Given the description of an element on the screen output the (x, y) to click on. 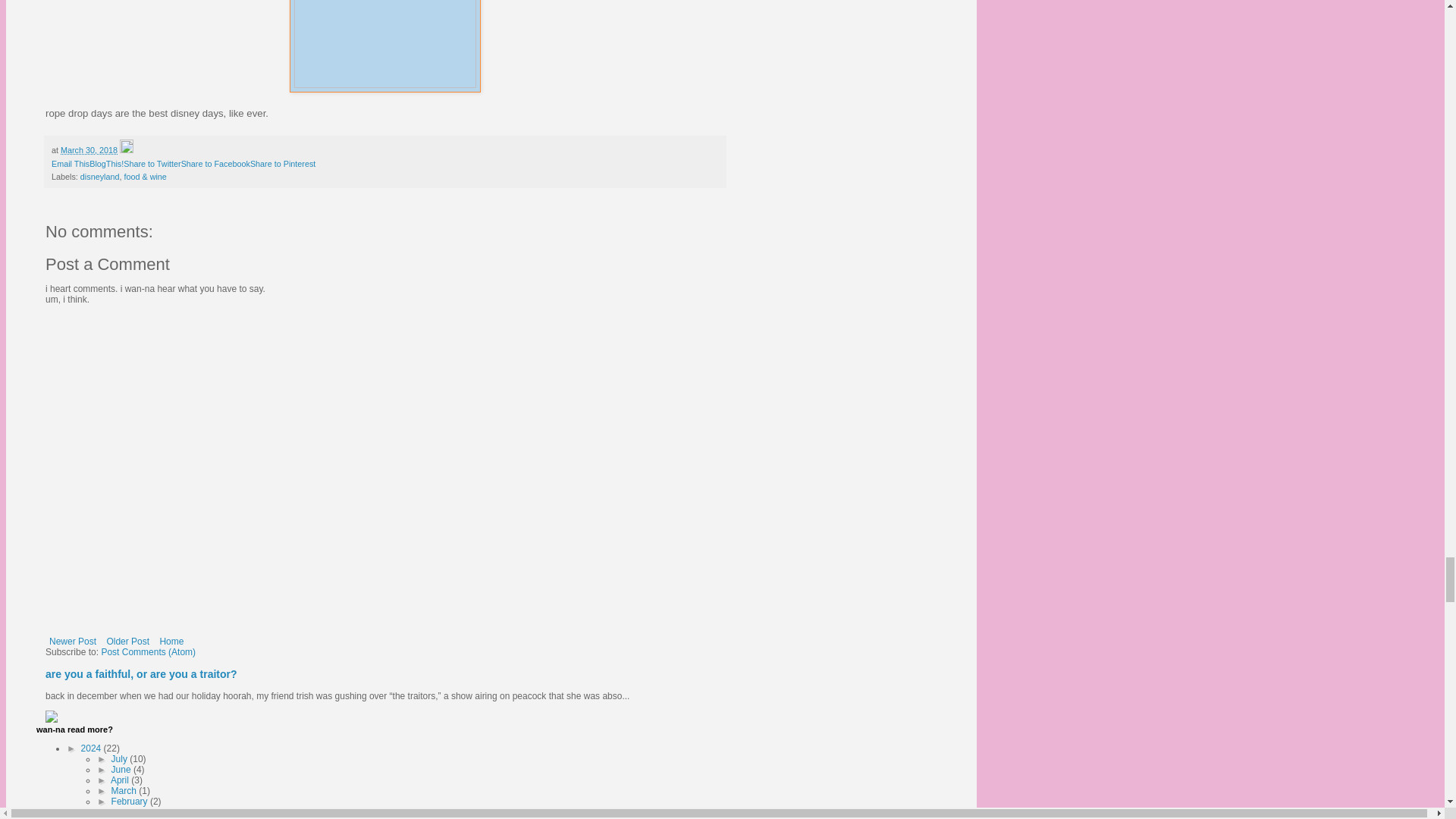
Share to Twitter (151, 163)
Newer Post (72, 641)
Email This (69, 163)
Older Post (126, 641)
Share to Facebook (215, 163)
Share to Pinterest (282, 163)
Edit Post (126, 149)
permanent link (89, 149)
BlogThis! (105, 163)
